Given the description of an element on the screen output the (x, y) to click on. 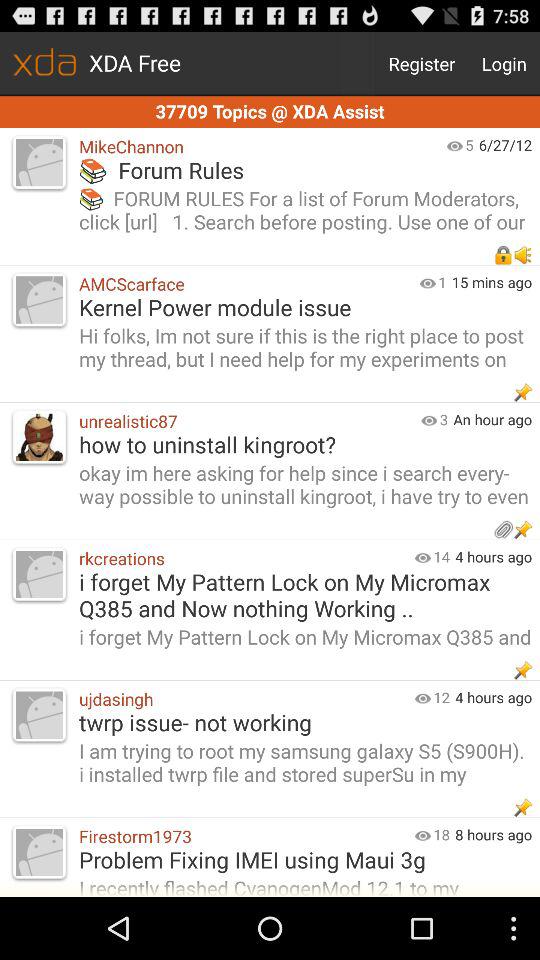
turn off the item above okay im here icon (245, 420)
